Given the description of an element on the screen output the (x, y) to click on. 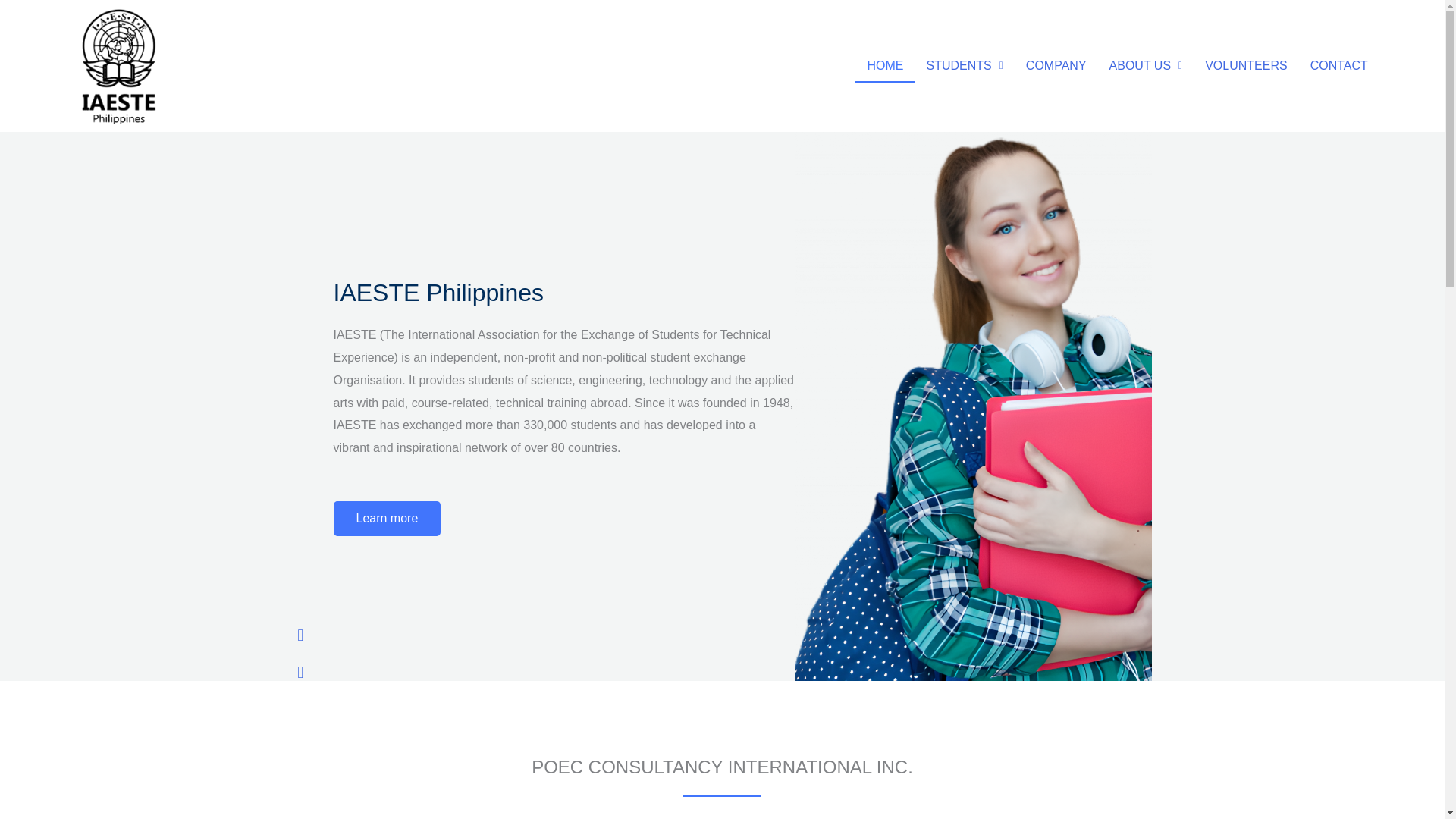
STUDENTS (963, 65)
ABOUT US (1145, 65)
COMPANY (1055, 65)
VOLUNTEERS (1245, 65)
Learn more (387, 518)
CONTACT (1338, 65)
HOME (885, 65)
